Given the description of an element on the screen output the (x, y) to click on. 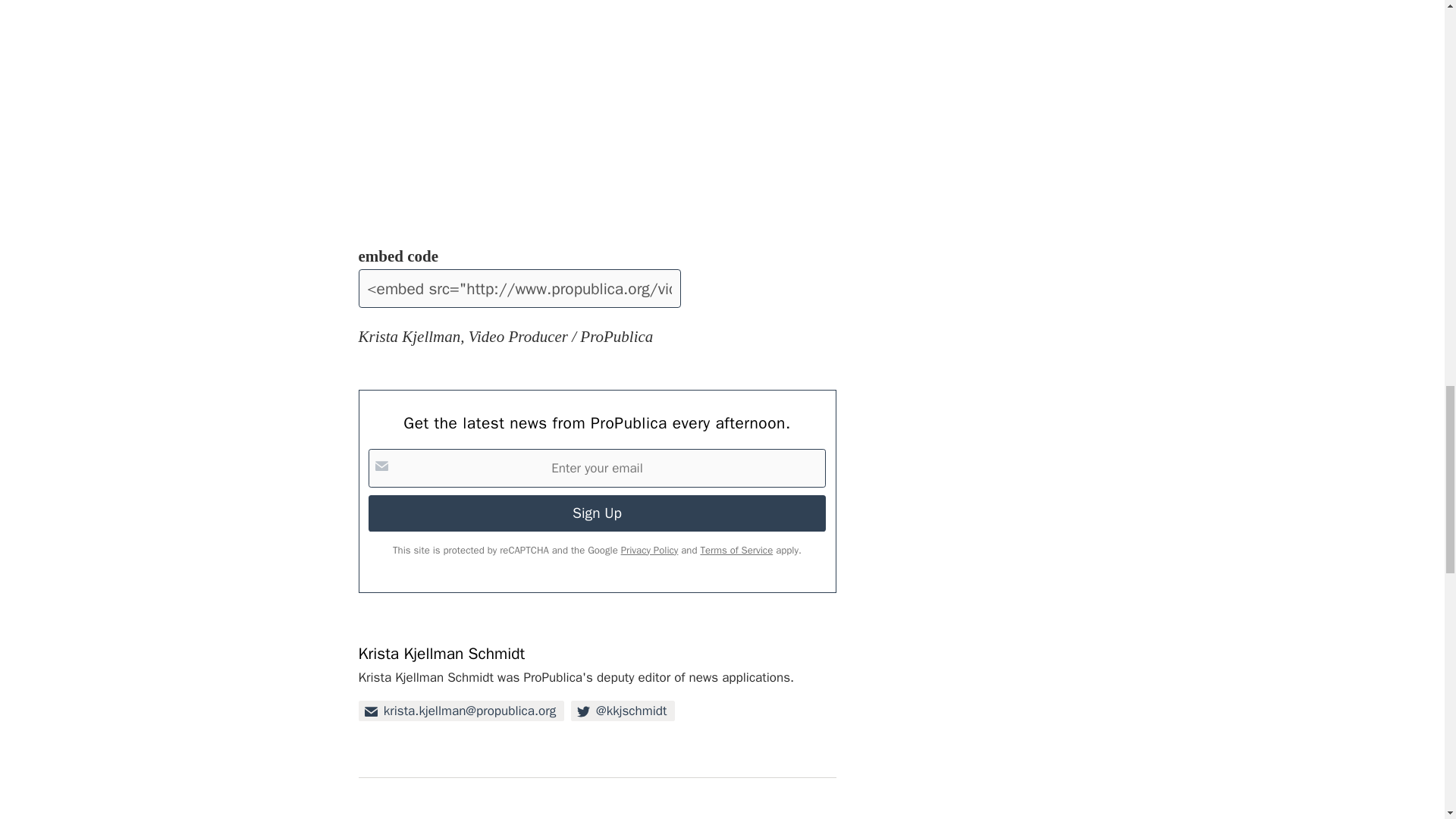
Email (461, 711)
Sign Up (596, 513)
Privacy Policy (649, 549)
Krista Kjellman Schmidt (441, 653)
Sign Up (596, 513)
Twitter (622, 711)
Terms of Service (736, 549)
